Given the description of an element on the screen output the (x, y) to click on. 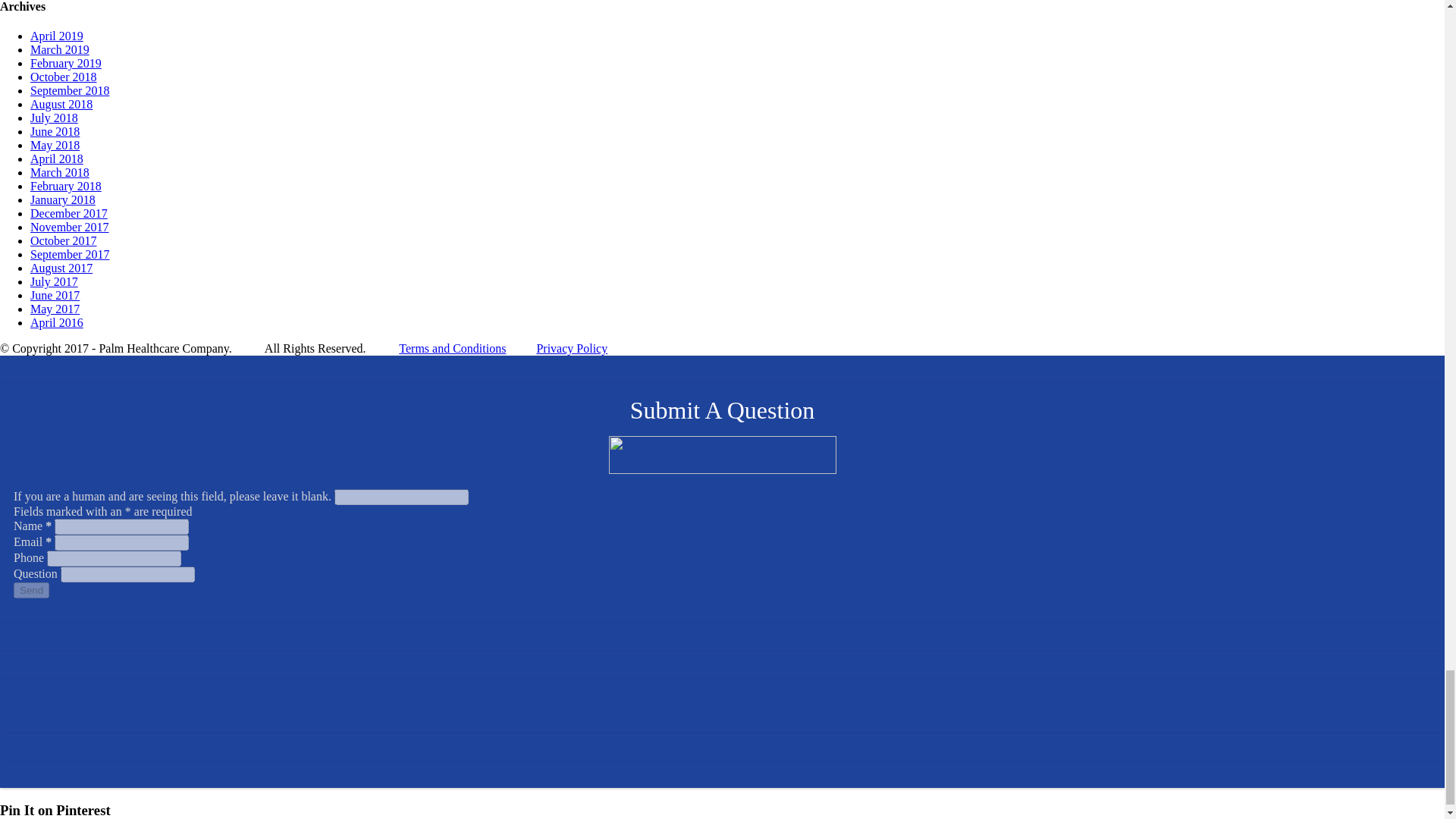
Send (31, 590)
